Given the description of an element on the screen output the (x, y) to click on. 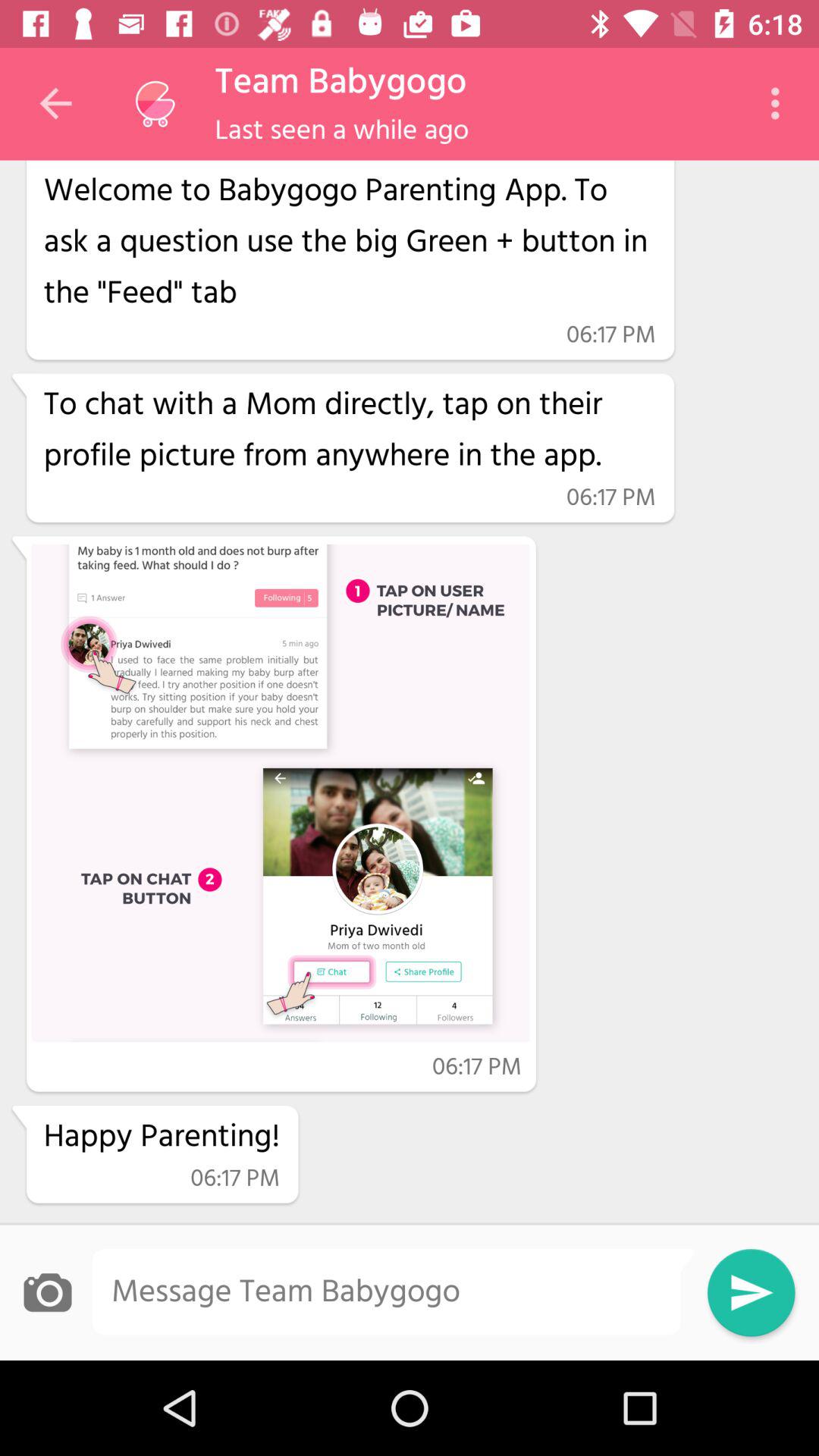
select an image (47, 1292)
